Given the description of an element on the screen output the (x, y) to click on. 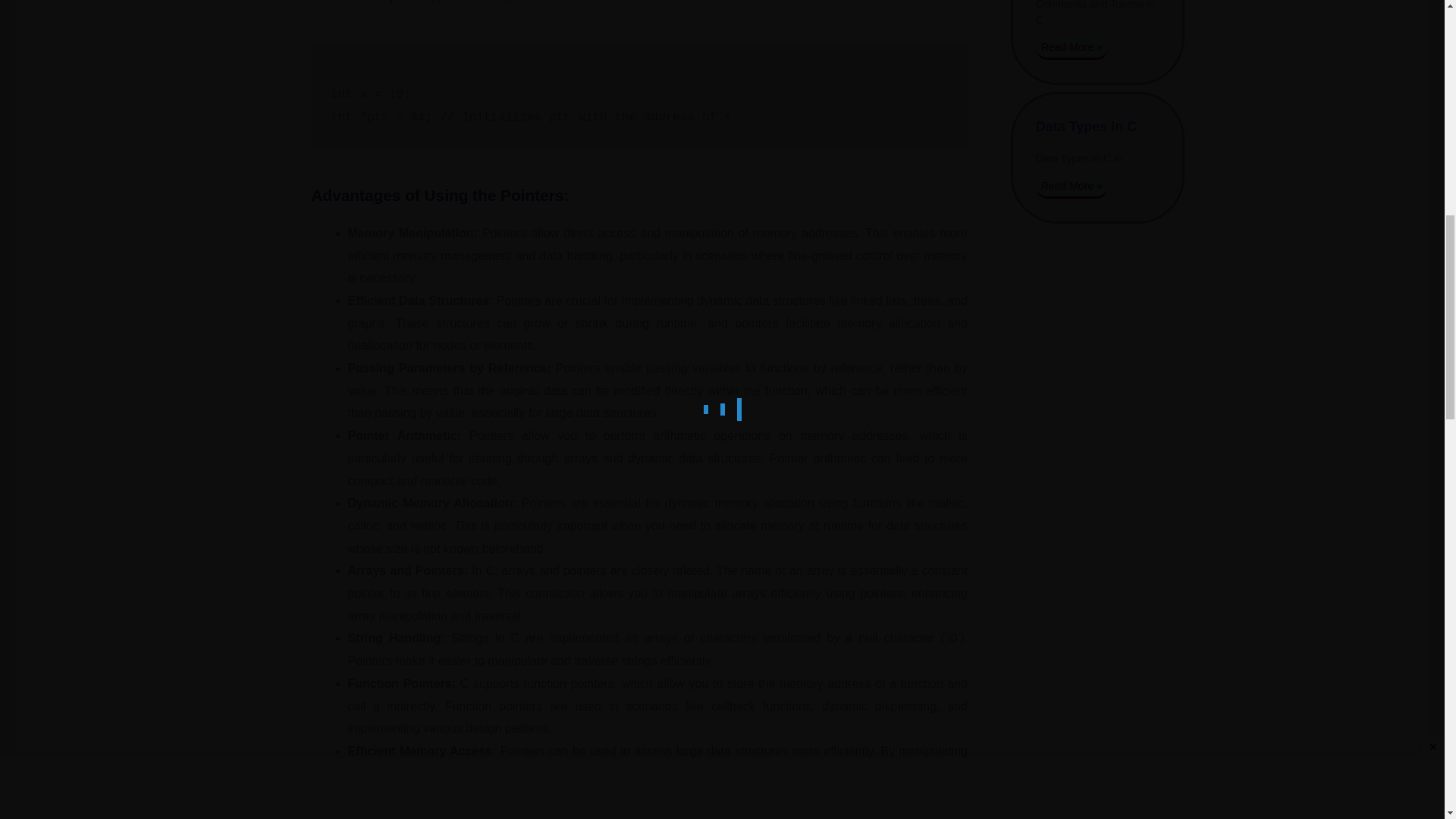
Data Types in C (1086, 126)
